Given the description of an element on the screen output the (x, y) to click on. 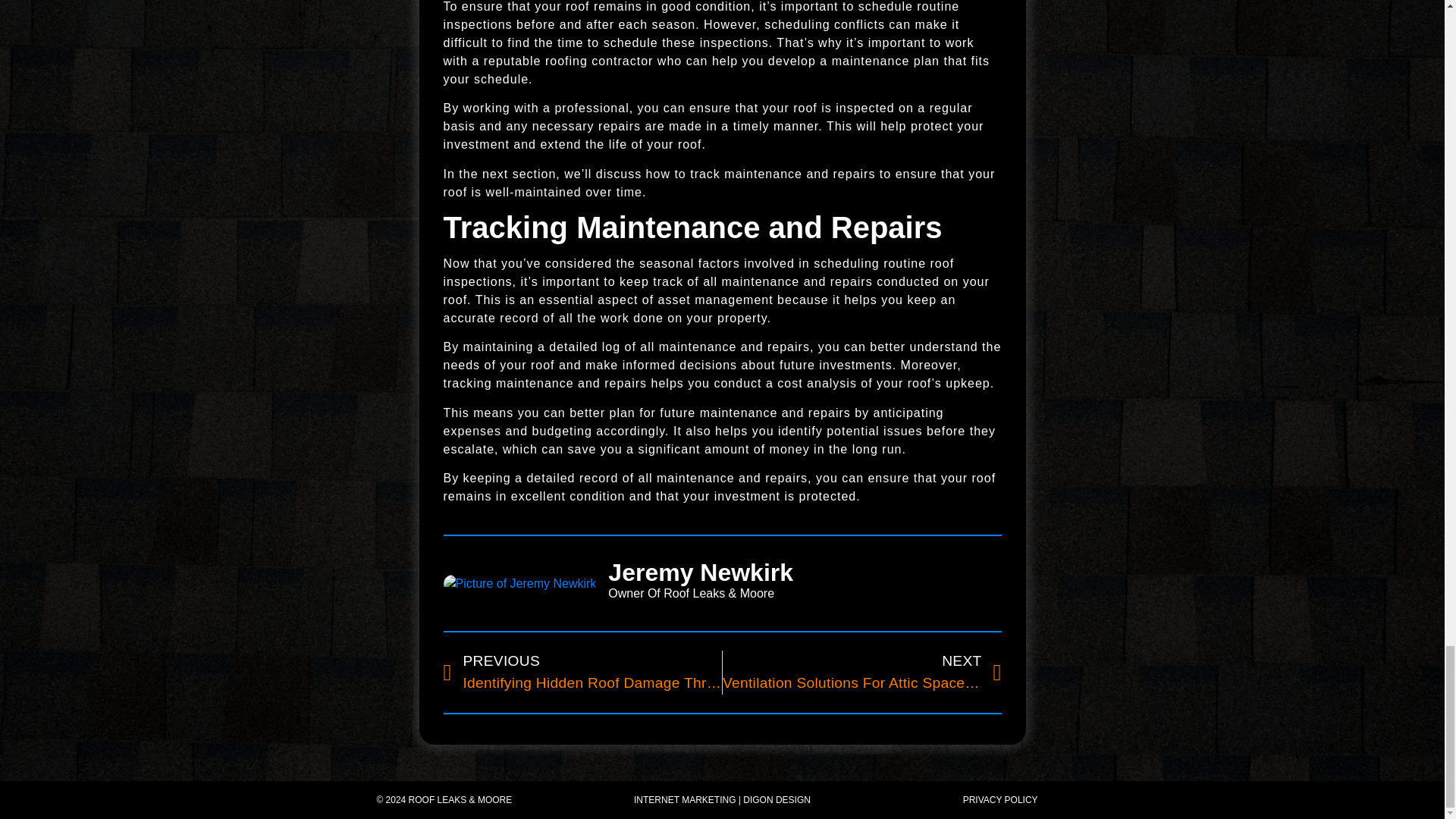
Jeremy Newkirk (804, 572)
PRIVACY POLICY (1000, 799)
